Given the description of an element on the screen output the (x, y) to click on. 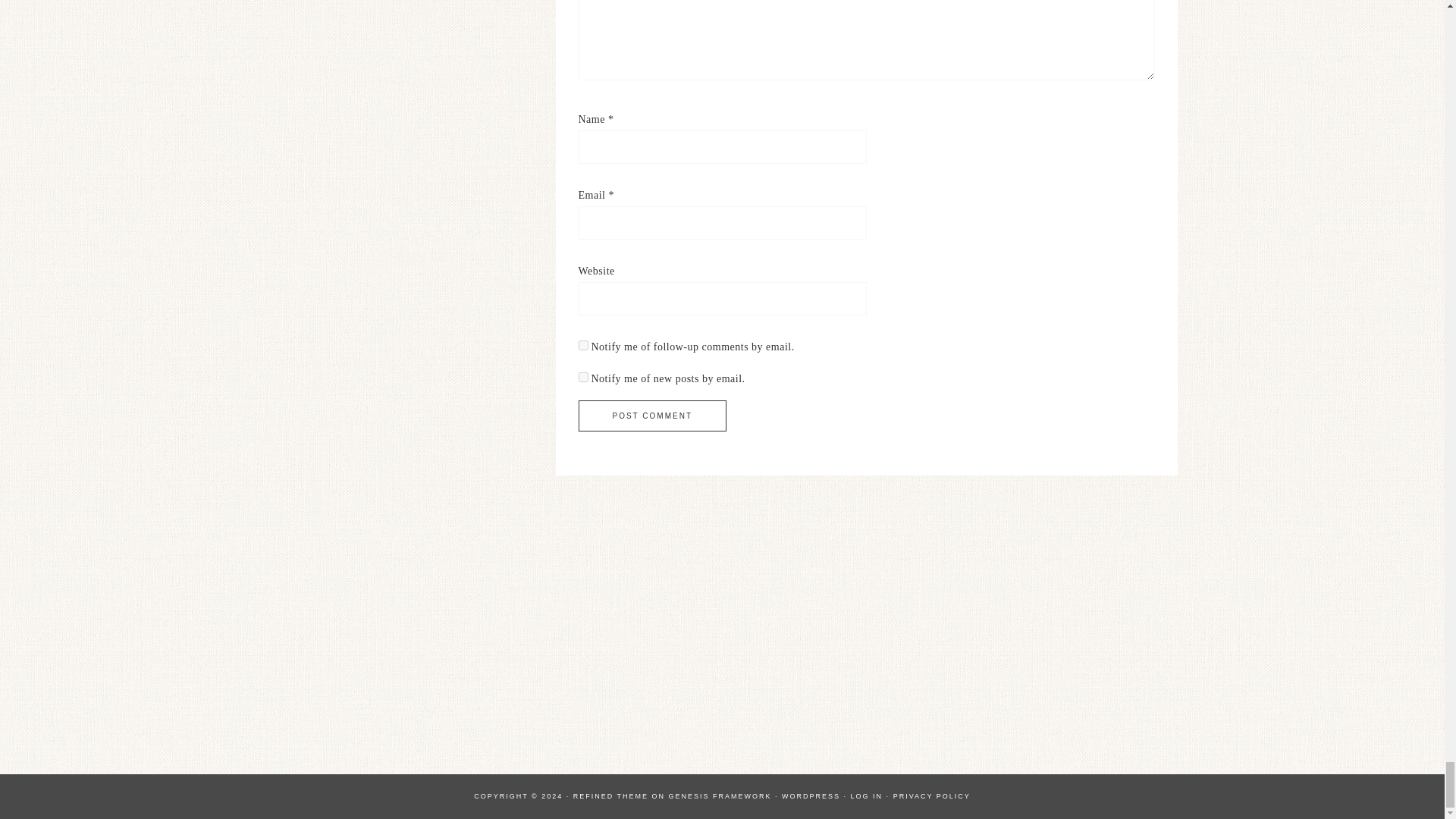
subscribe (583, 345)
Post Comment (651, 415)
subscribe (583, 377)
